Given the description of an element on the screen output the (x, y) to click on. 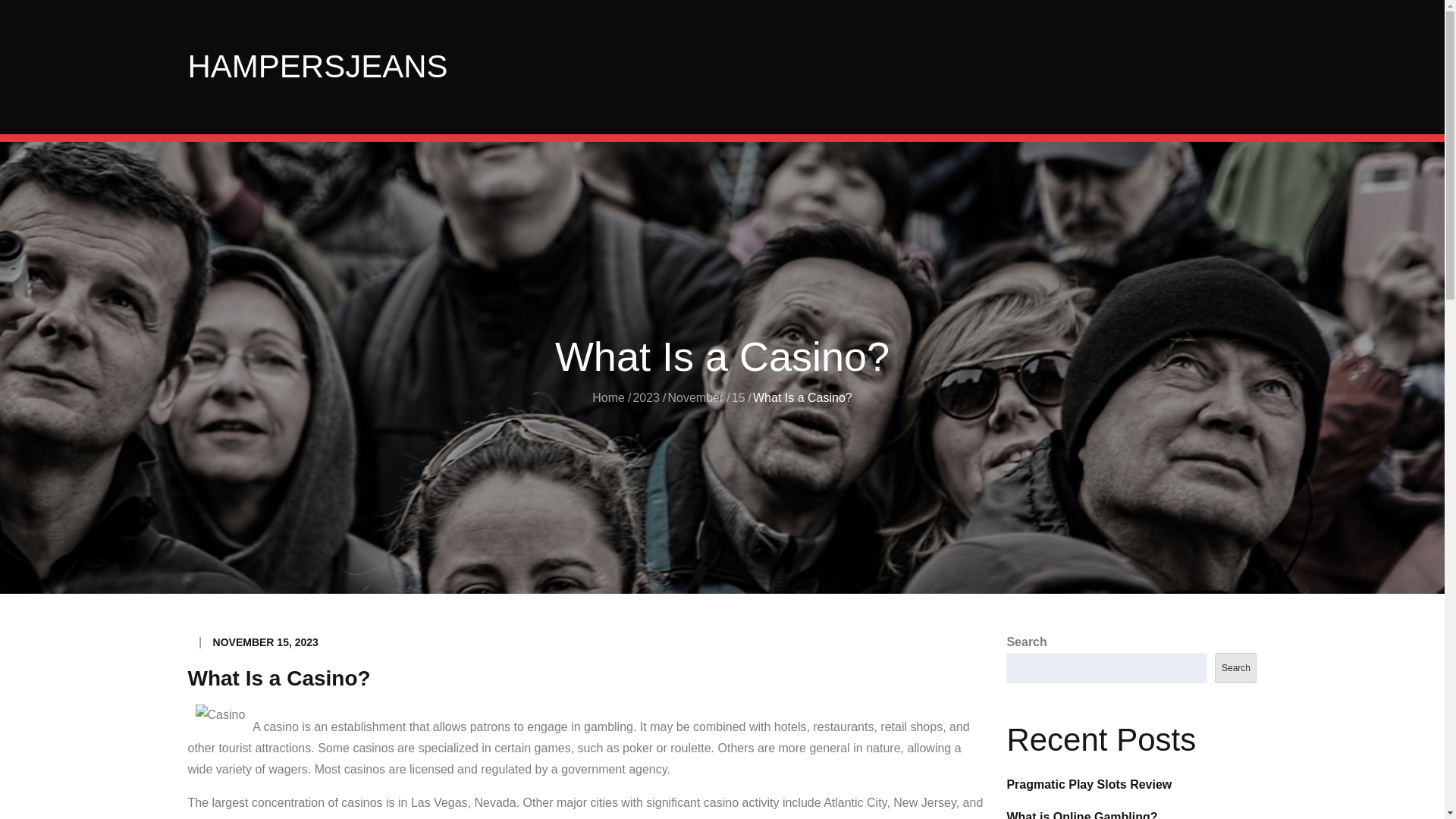
NOVEMBER 15, 2023 (265, 642)
2023 (645, 397)
15 (738, 397)
Home (608, 397)
What is Online Gambling? (1081, 814)
Pragmatic Play Slots Review (1089, 784)
November (694, 397)
Search (1235, 667)
HAMPERSJEANS (317, 66)
